Given the description of an element on the screen output the (x, y) to click on. 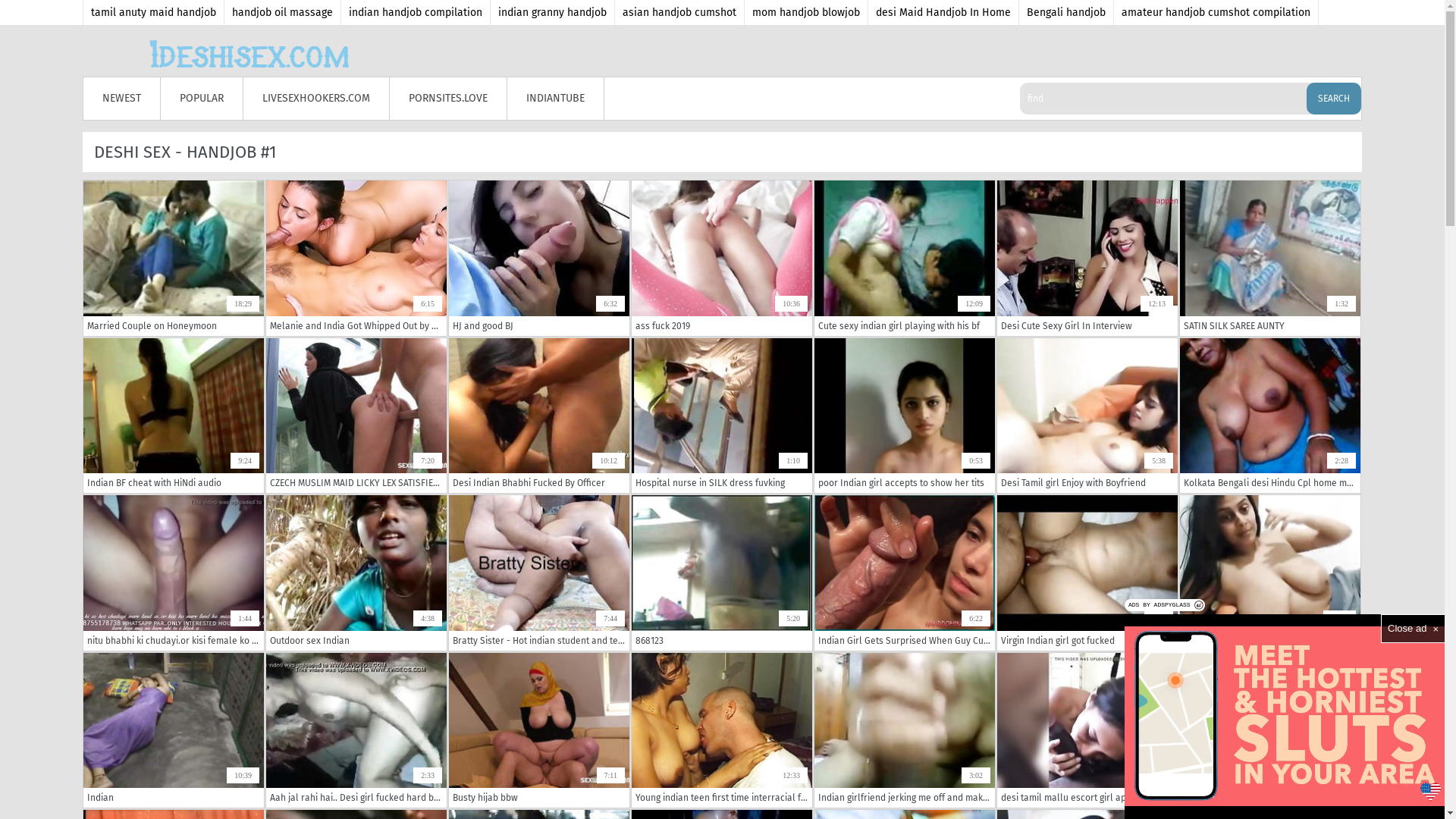
4:16
Desi teen having some fun with BF Element type: text (1269, 729)
7:18
Virgin Indian girl got fucked Element type: text (1087, 572)
1:10
Hospital nurse in SILK dress fuvking Element type: text (721, 415)
10:39
Indian Element type: text (173, 729)
1:32
SATIN SILK SAREE AUNTY Element type: text (1269, 257)
18:29
Married Couple on Honeymoon Element type: text (173, 257)
tamil anuty maid handjob Element type: text (153, 12)
12:33
Young indian teen first time interracial fucked Element type: text (721, 729)
12:13
Desi Cute Sexy Girl In Interview Element type: text (1087, 257)
LIVESEXHOOKERS.COM Element type: text (316, 98)
mom handjob blowjob Element type: text (806, 12)
indian granny handjob Element type: text (552, 12)
POPULAR Element type: text (201, 98)
desi Maid Handjob In Home Element type: text (943, 12)
10:36
ass fuck 2019 Element type: text (721, 257)
6:22
Indian Girl Gets Surprised When Guy Cums Element type: text (904, 572)
7:20
CZECH MUSLIM MAID LICKY LEX SATISFIES HER BOSS Element type: text (356, 415)
INDIANTUBE Element type: text (555, 98)
PORNSITES.LOVE Element type: text (448, 98)
4:38
Outdoor sex Indian Element type: text (356, 572)
6:32
HJ and good BJ Element type: text (538, 257)
handjob oil massage Element type: text (282, 12)
3:02
Indian girlfriend jerking me off and making me cum. Element type: text (904, 729)
10:12
Desi Indian Bhabhi Fucked By Officer Element type: text (538, 415)
6:15
Melanie and India Got Whipped Out by a Young Cock Element type: text (356, 257)
12:09
Cute sexy indian girl playing with his bf Element type: text (904, 257)
SEARCH Element type: text (1333, 98)
ADS BY ADSPYGLASS Element type: text (1164, 605)
7:11
Busty hijab bbw Element type: text (538, 729)
2:28
Kolkata Bengali desi Hindu Cpl home made HQ Element type: text (1269, 415)
indian handjob compilation Element type: text (415, 12)
5:20
868123 Element type: text (721, 572)
0:45
desi tamil mallu escort girl apsara with bbc in hotel Element type: text (1087, 729)
amateur handjob cumshot compilation Element type: text (1215, 12)
0:53
poor Indian girl accepts to show her tits Element type: text (904, 415)
Bengali handjob Element type: text (1066, 12)
9:24
Indian BF cheat with HiNdi audio Element type: text (173, 415)
5:38
Desi Tamil girl Enjoy with Boyfriend Element type: text (1087, 415)
NEWEST Element type: text (121, 98)
asian handjob cumshot Element type: text (679, 12)
